Given the description of an element on the screen output the (x, y) to click on. 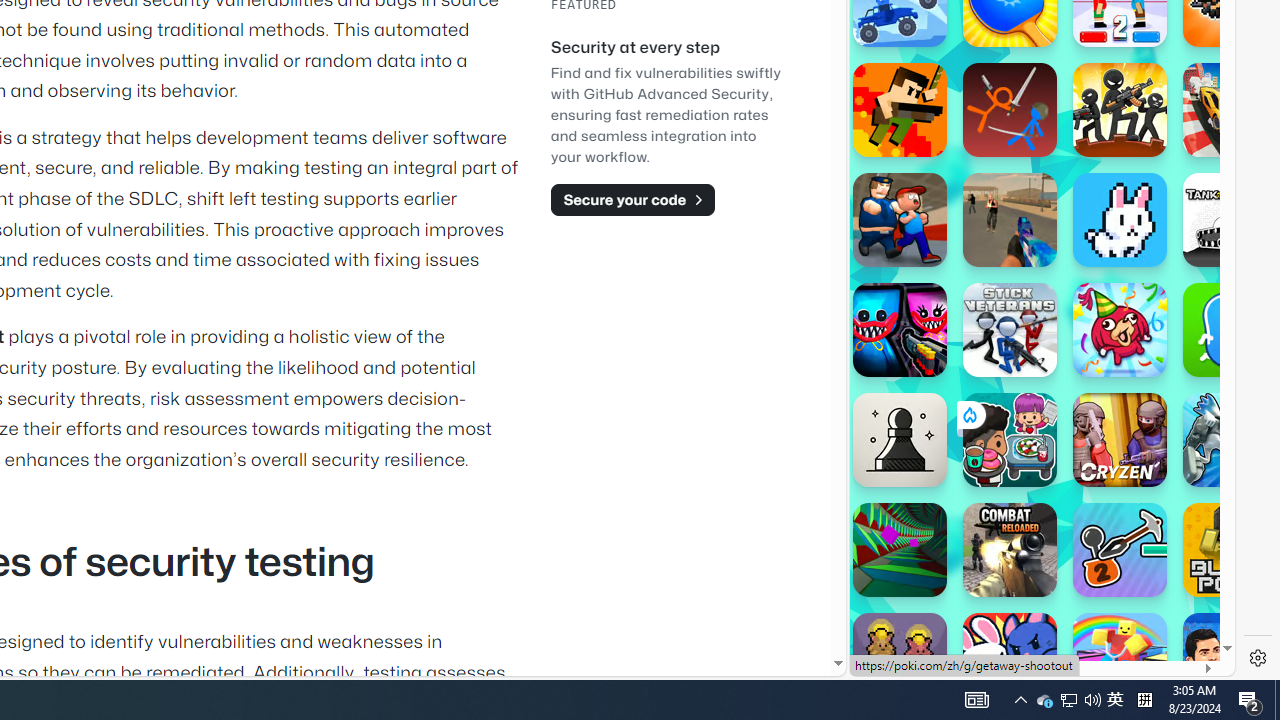
Combat Reloaded Combat Reloaded poki.com (1092, 245)
Stick Defenders Stick Defenders (1119, 109)
Stickman Fight: Ragdoll (1009, 109)
Kate's Cooking Party 2 Kate's Cooking Party 2 (1009, 439)
Secure your code (632, 199)
Football Legends Football Legends (1229, 659)
Earth's Greatest Defender (899, 109)
Combat Reloaded 2 (1009, 219)
Classic Chess (899, 439)
Crazy Cars Crazy Cars (1229, 109)
Stick Veterans (1009, 329)
Hills of Steel (943, 200)
Tunnel Rush Tunnel Rush (899, 549)
Poki (1034, 606)
Combat Reloaded (1090, 290)
